Given the description of an element on the screen output the (x, y) to click on. 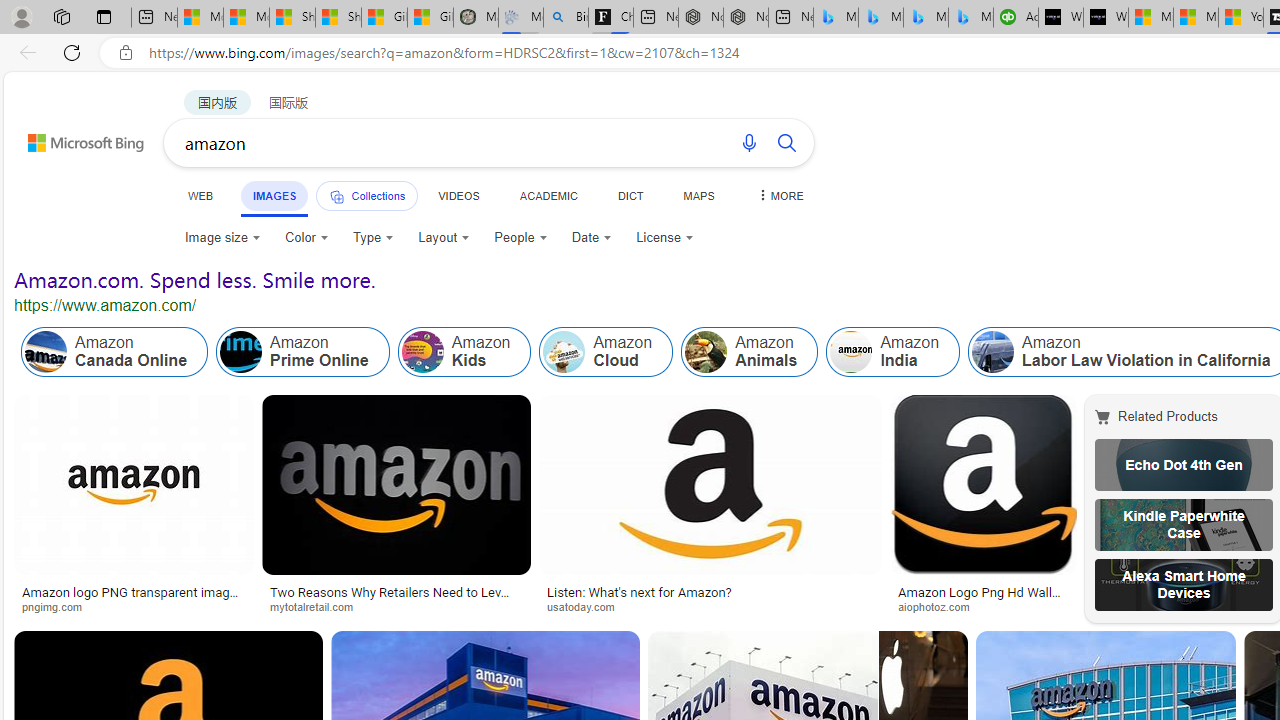
What's the best AI voice generator? - voice.ai (1105, 17)
ACADEMIC (548, 195)
Back to Bing search (73, 138)
Amazon Cloud (606, 351)
Chloe Sorvino (610, 17)
Amazon Labor Law Violation in California (993, 351)
Amazon Echo Dot 4th Gen (1183, 465)
Bing Real Estate - Home sales and rental listings (565, 17)
Color (305, 237)
